Given the description of an element on the screen output the (x, y) to click on. 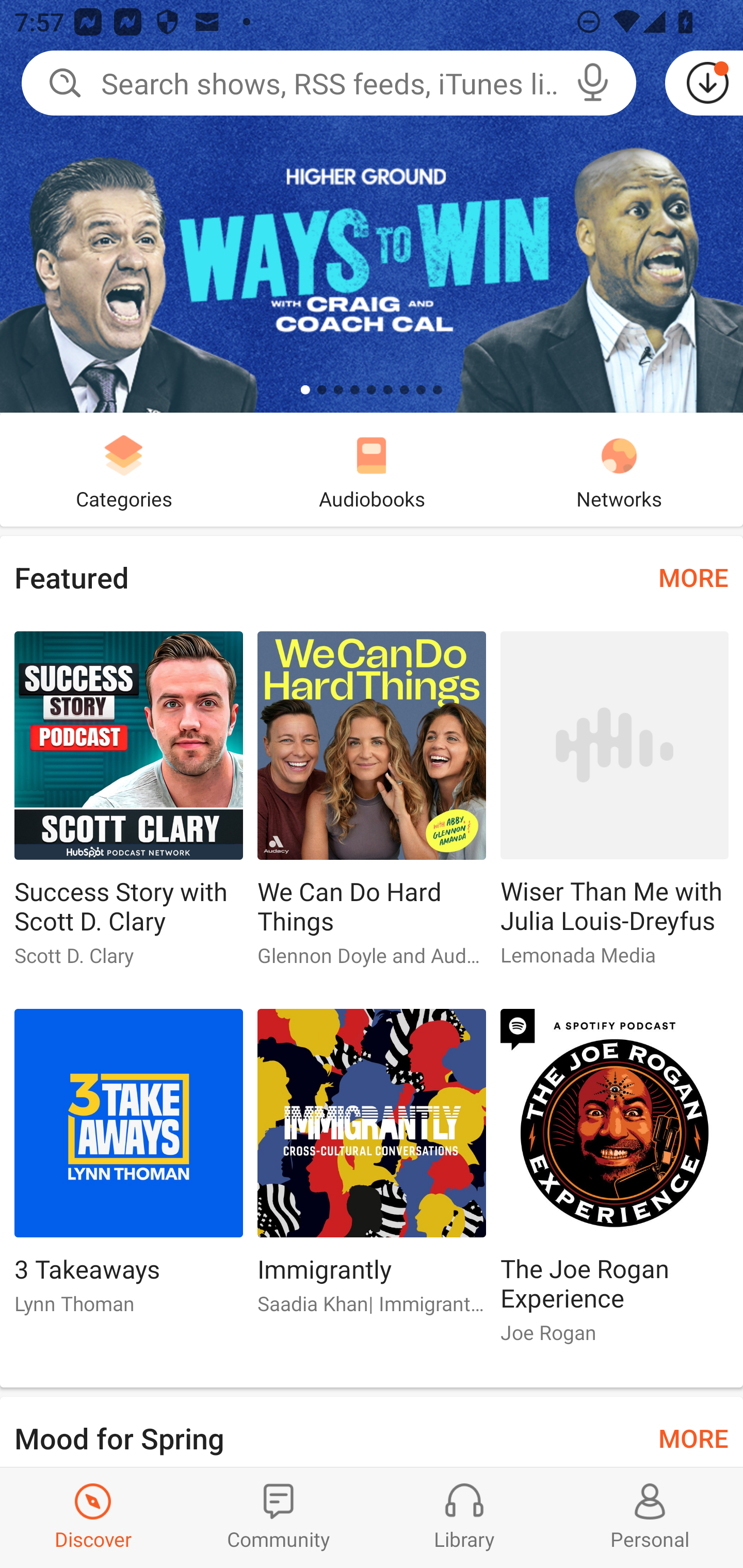
Ways To Win (371, 206)
Categories (123, 469)
Audiobooks (371, 469)
Networks (619, 469)
MORE (693, 576)
3 Takeaways 3 Takeaways Lynn Thoman (128, 1169)
MORE (693, 1436)
Discover (92, 1517)
Community (278, 1517)
Library (464, 1517)
Profiles and Settings Personal (650, 1517)
